Given the description of an element on the screen output the (x, y) to click on. 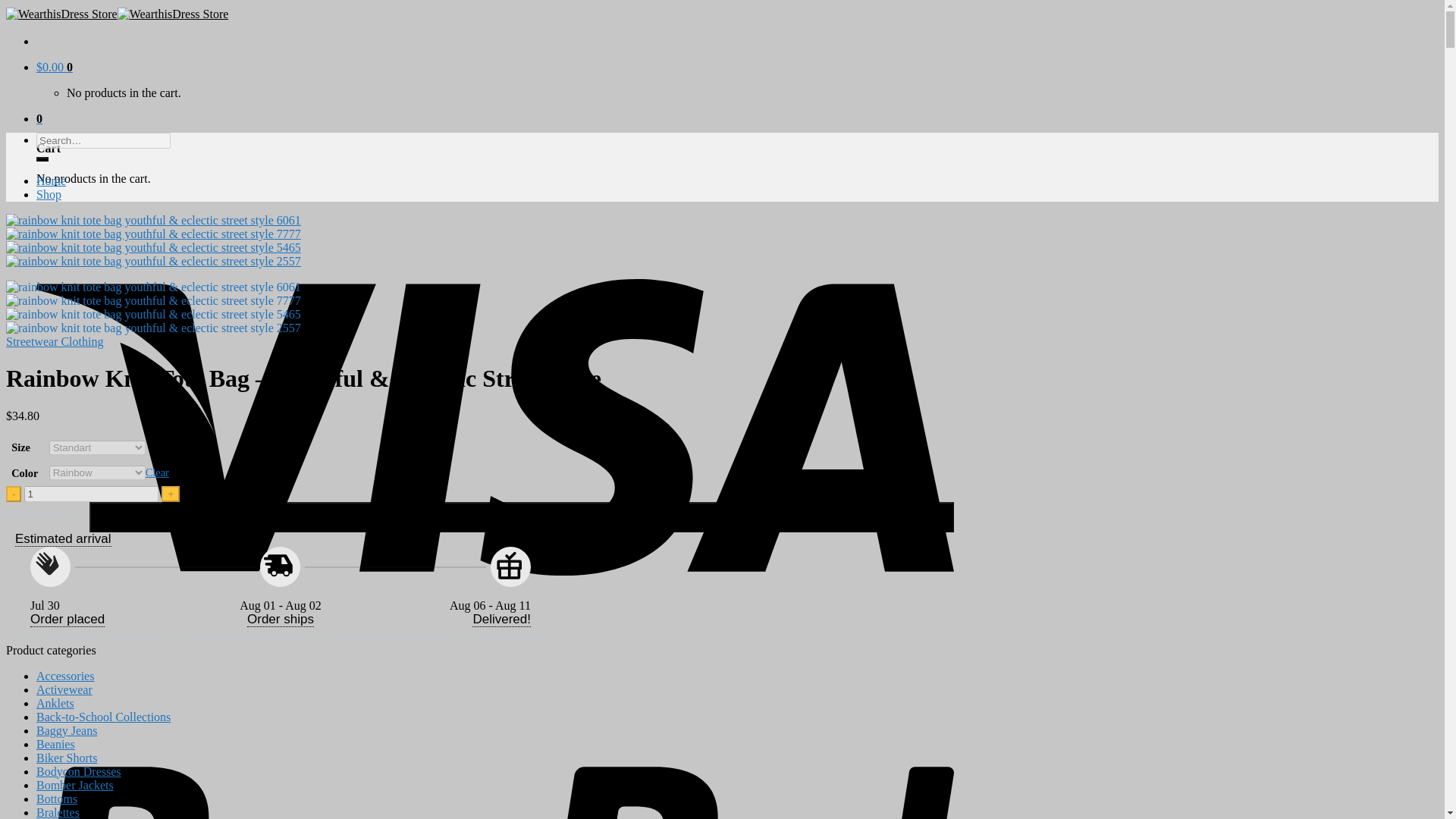
Baggy Jeans (66, 730)
Biker Shorts (66, 757)
Search (42, 159)
- (13, 494)
Clear (156, 472)
Add to cart (520, 517)
WearthisDress Store (116, 13)
Accessories (65, 675)
Qty (91, 494)
Activewear (64, 689)
Bomber Jackets (74, 784)
Anklets (55, 703)
Shop (48, 194)
Back-to-School Collections (103, 716)
Bodycon Dresses (78, 771)
